Given the description of an element on the screen output the (x, y) to click on. 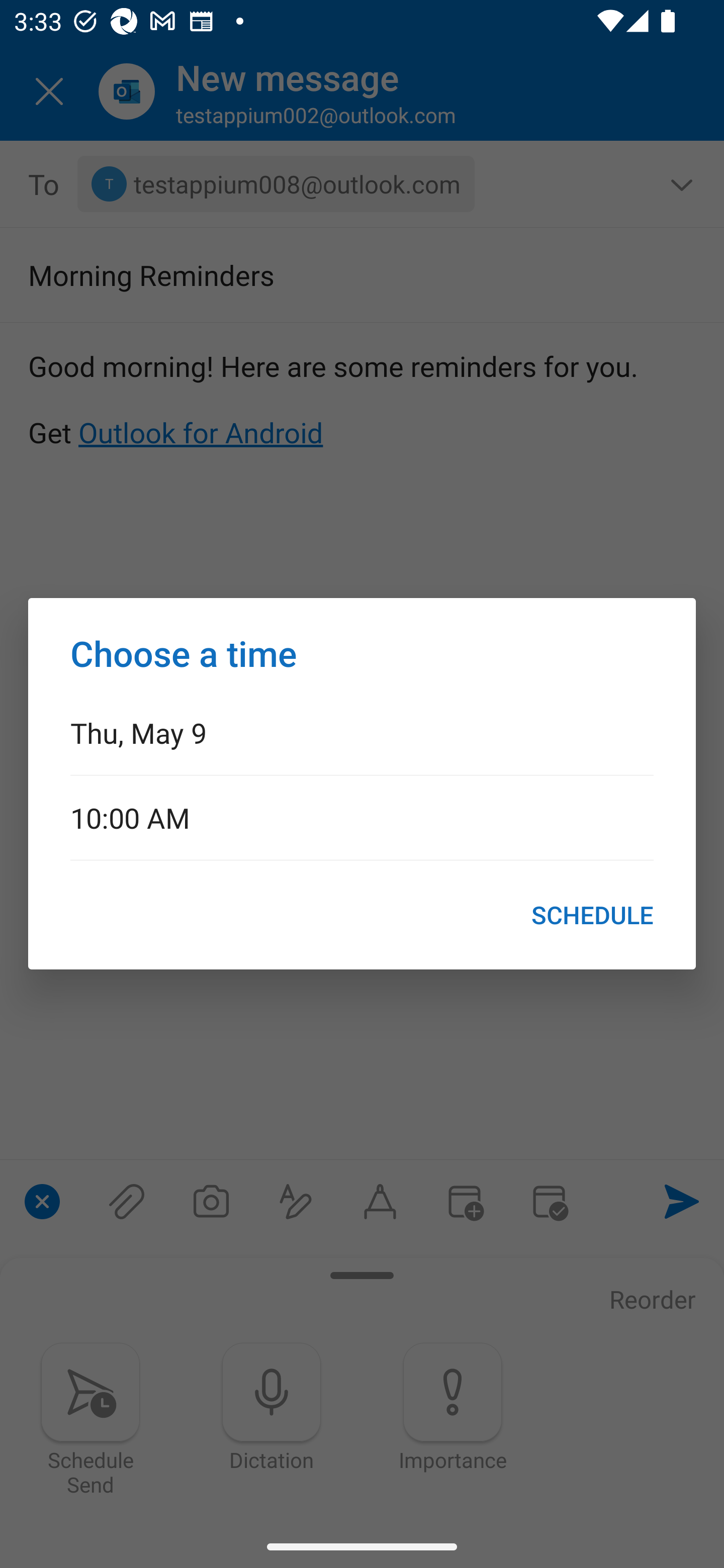
Thu, May 9 Choose date Thu, May 9 (361, 731)
10:00 AM Choose time 10:00 AM (361, 817)
SCHEDULE (592, 914)
